Given the description of an element on the screen output the (x, y) to click on. 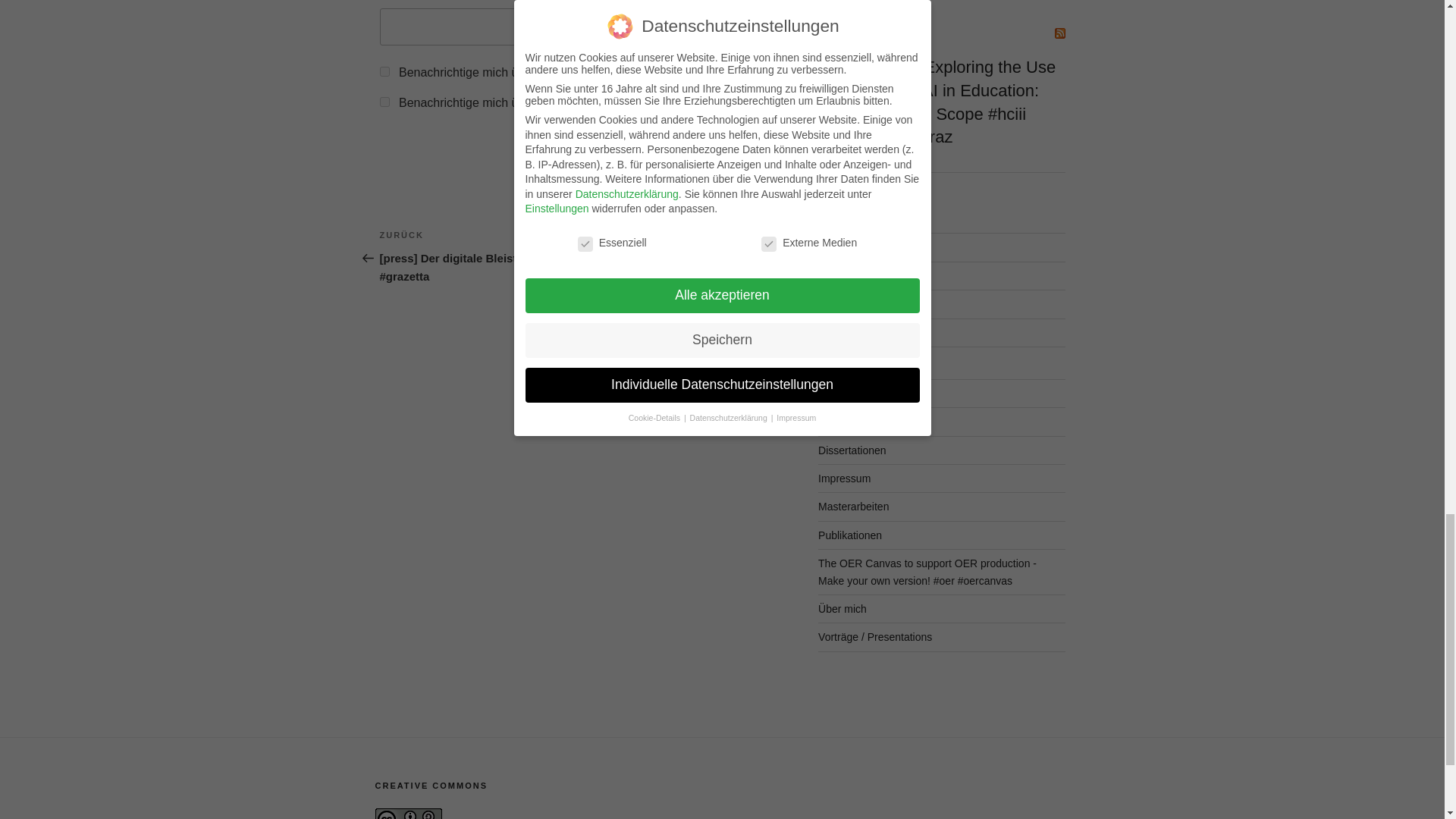
subscribe (383, 71)
Kommentar abschicken (695, 140)
Kommentar abschicken (695, 140)
subscribe (383, 102)
